Given the description of an element on the screen output the (x, y) to click on. 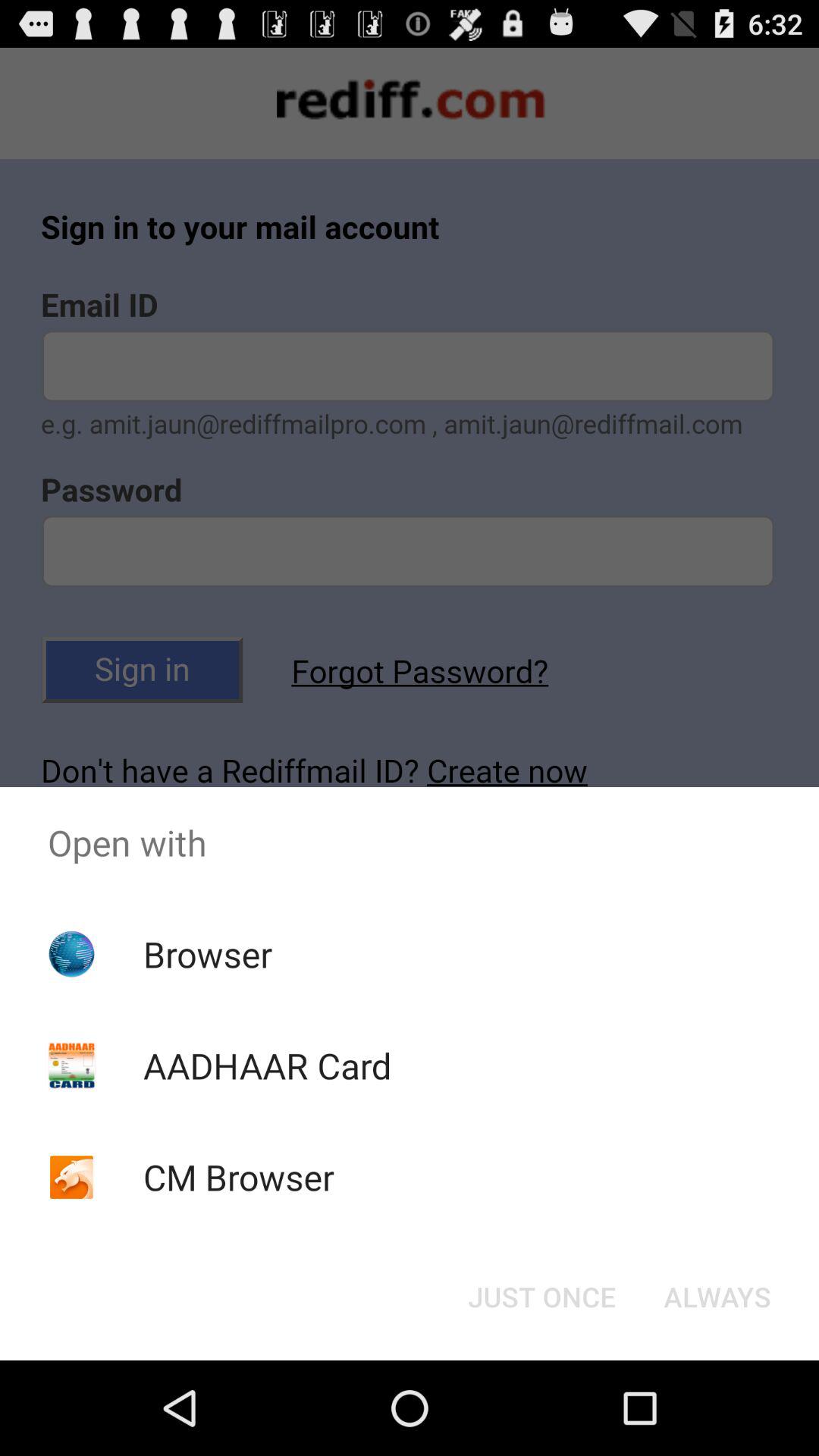
scroll to the always button (717, 1296)
